Given the description of an element on the screen output the (x, y) to click on. 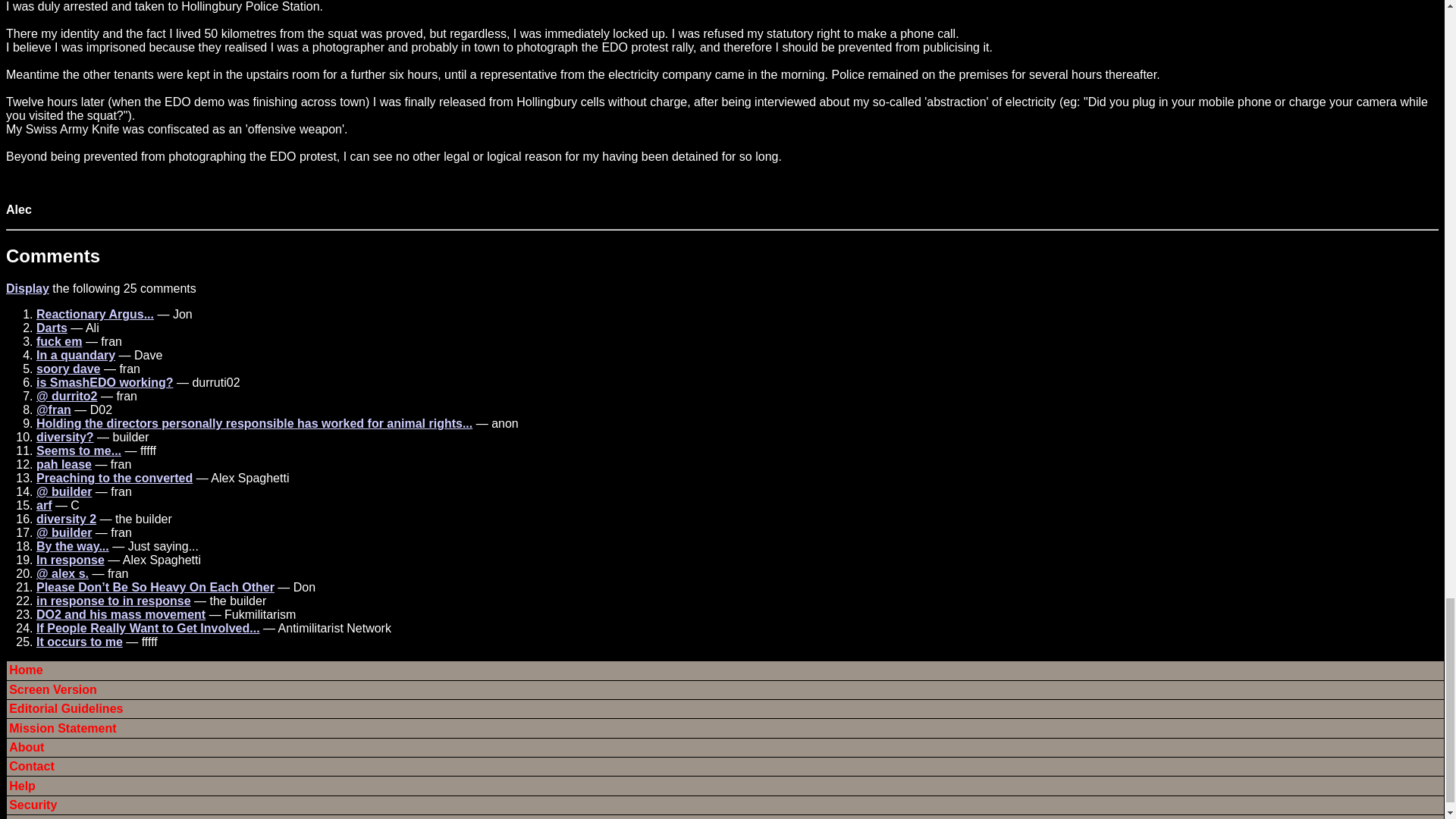
In a quandary (75, 354)
Comments (52, 255)
Darts (51, 327)
Reactionary Argus... (95, 314)
is SmashEDO working? (104, 382)
soory dave (68, 368)
fuck em (58, 341)
Display (27, 287)
